Given the description of an element on the screen output the (x, y) to click on. 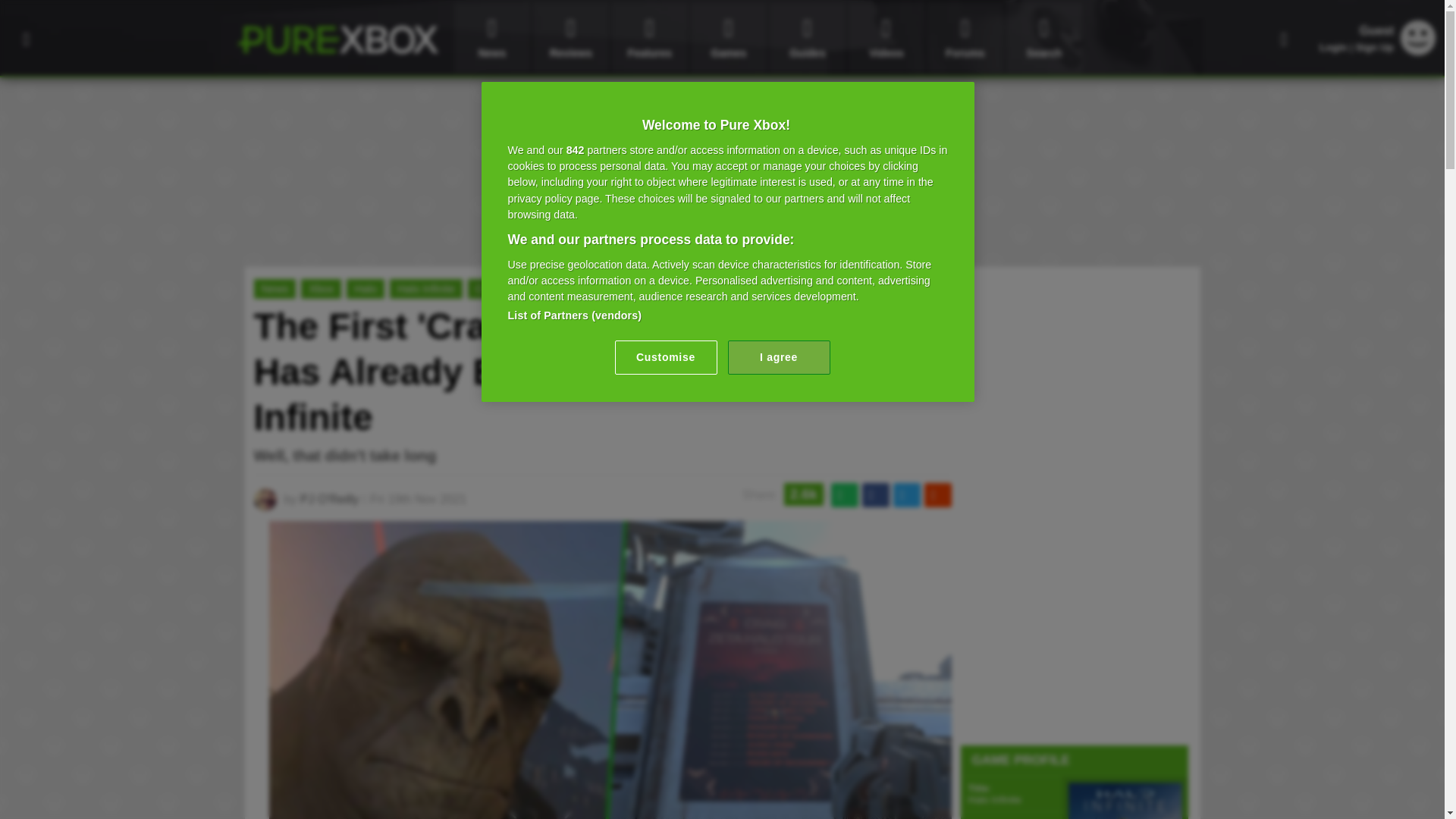
Pure Xbox (336, 39)
Guides (807, 37)
Guest (1417, 51)
Forums (965, 37)
Pure Xbox (336, 39)
Videos (886, 37)
Search (1043, 37)
Guest (1417, 37)
Features (649, 37)
Login (1332, 47)
Share This Page (1283, 37)
News (491, 37)
Reviews (570, 37)
Sign Up (1374, 47)
Games (728, 37)
